Given the description of an element on the screen output the (x, y) to click on. 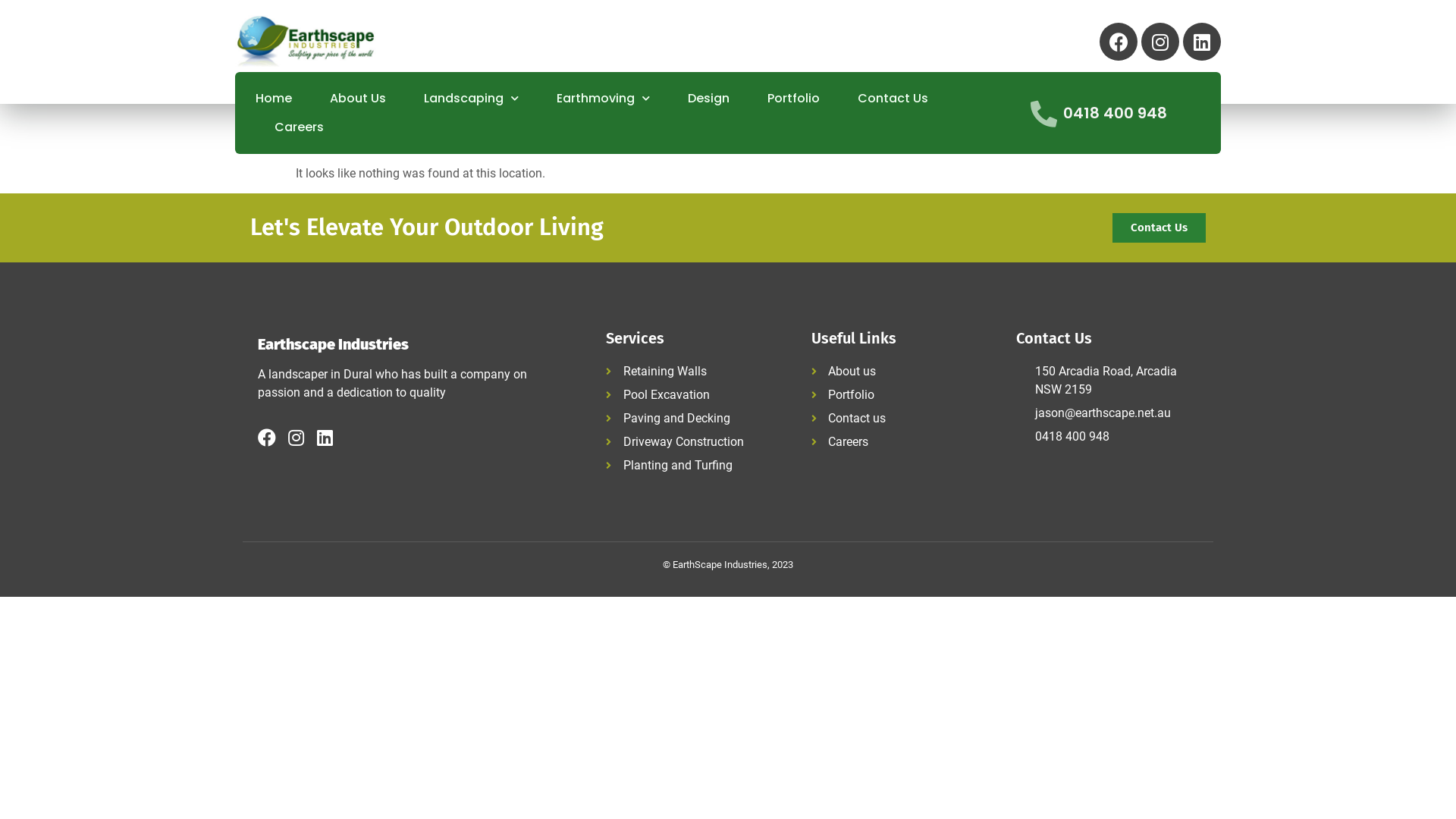
Pool Excavation Element type: text (696, 394)
Careers Element type: text (298, 126)
0418 400 948 Element type: text (1115, 112)
About Us Element type: text (357, 98)
0418 400 948 Element type: text (1107, 436)
jason@earthscape.net.au Element type: text (1107, 413)
Landscaping Element type: text (470, 98)
Home Element type: text (273, 98)
Portfolio Element type: text (902, 394)
Portfolio Element type: text (793, 98)
Planting and Turfing Element type: text (696, 465)
Driveway Construction Element type: text (696, 442)
Retaining Walls Element type: text (696, 371)
Careers Element type: text (902, 442)
About us Element type: text (902, 371)
Earthmoving Element type: text (602, 98)
Contact Us Element type: text (892, 98)
Contact Us Element type: text (1158, 227)
Design Element type: text (708, 98)
Paving and Decking Element type: text (696, 418)
Contact us Element type: text (902, 418)
